Given the description of an element on the screen output the (x, y) to click on. 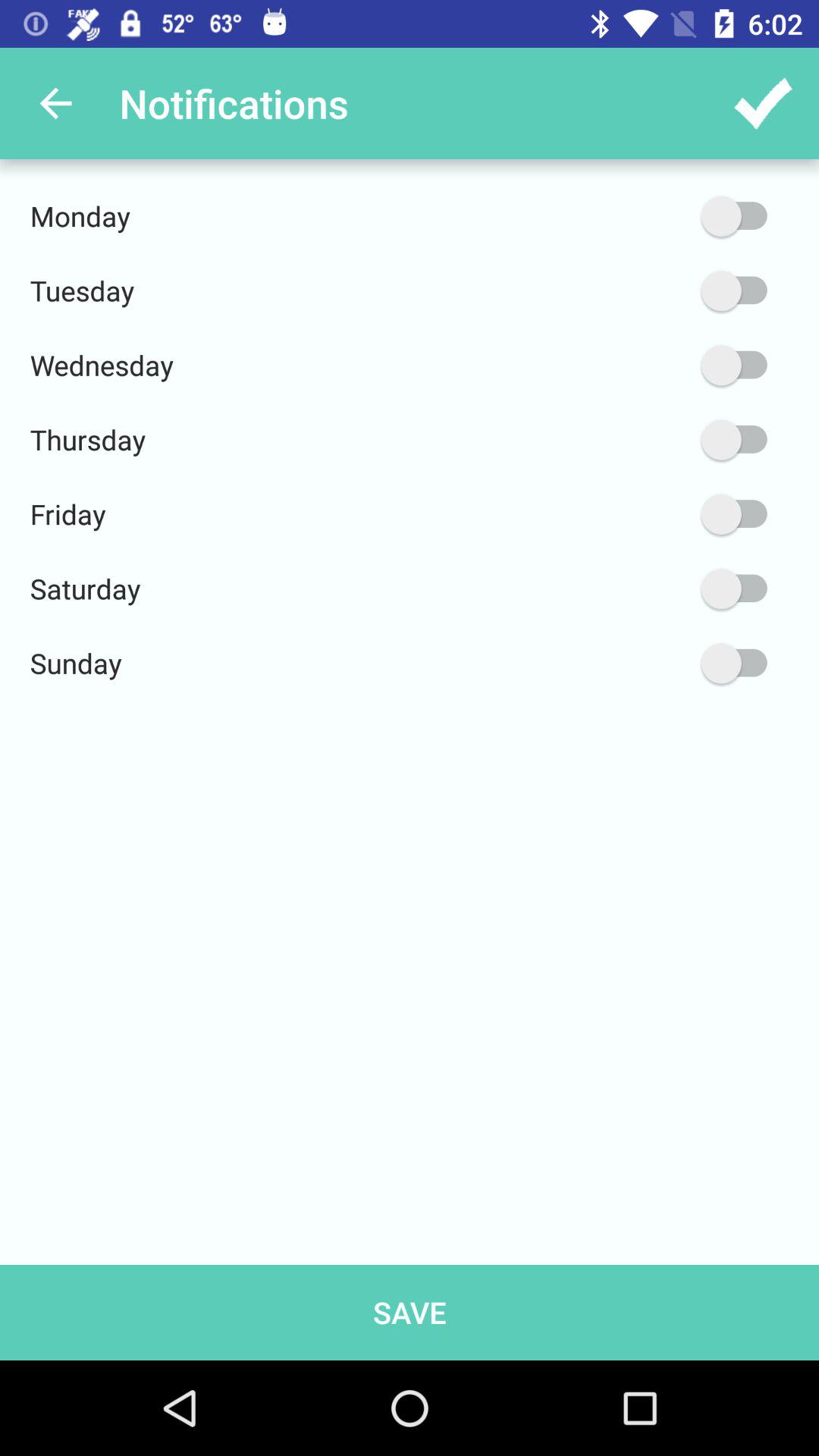
press the icon above save item (661, 663)
